Given the description of an element on the screen output the (x, y) to click on. 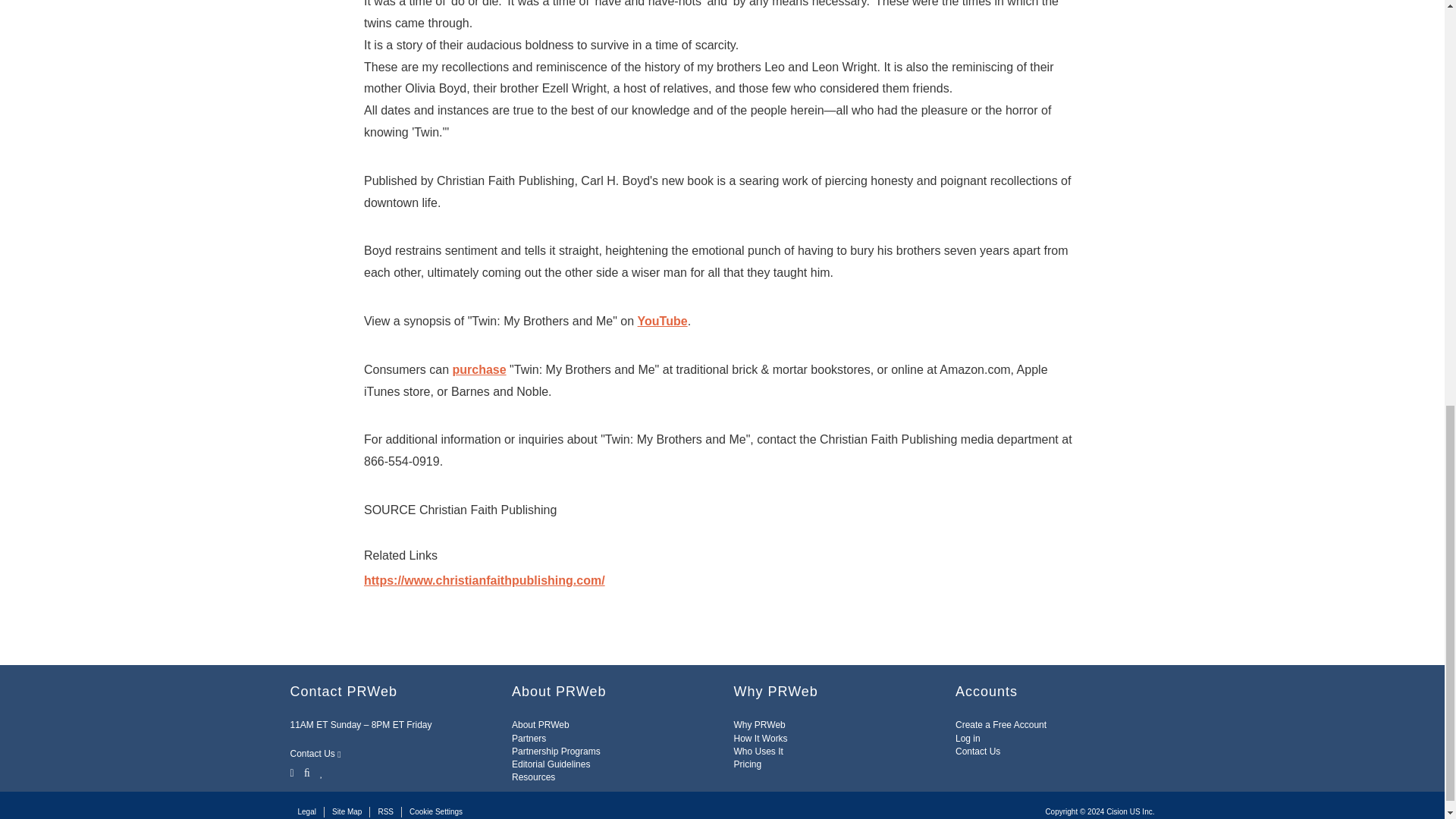
Why PRWeb (759, 724)
Resources (533, 777)
Partnership Programs (555, 751)
Partners (529, 738)
How It Works (760, 738)
Editorial Guidelines (550, 764)
Facebook (306, 771)
About PRWeb (540, 724)
